Given the description of an element on the screen output the (x, y) to click on. 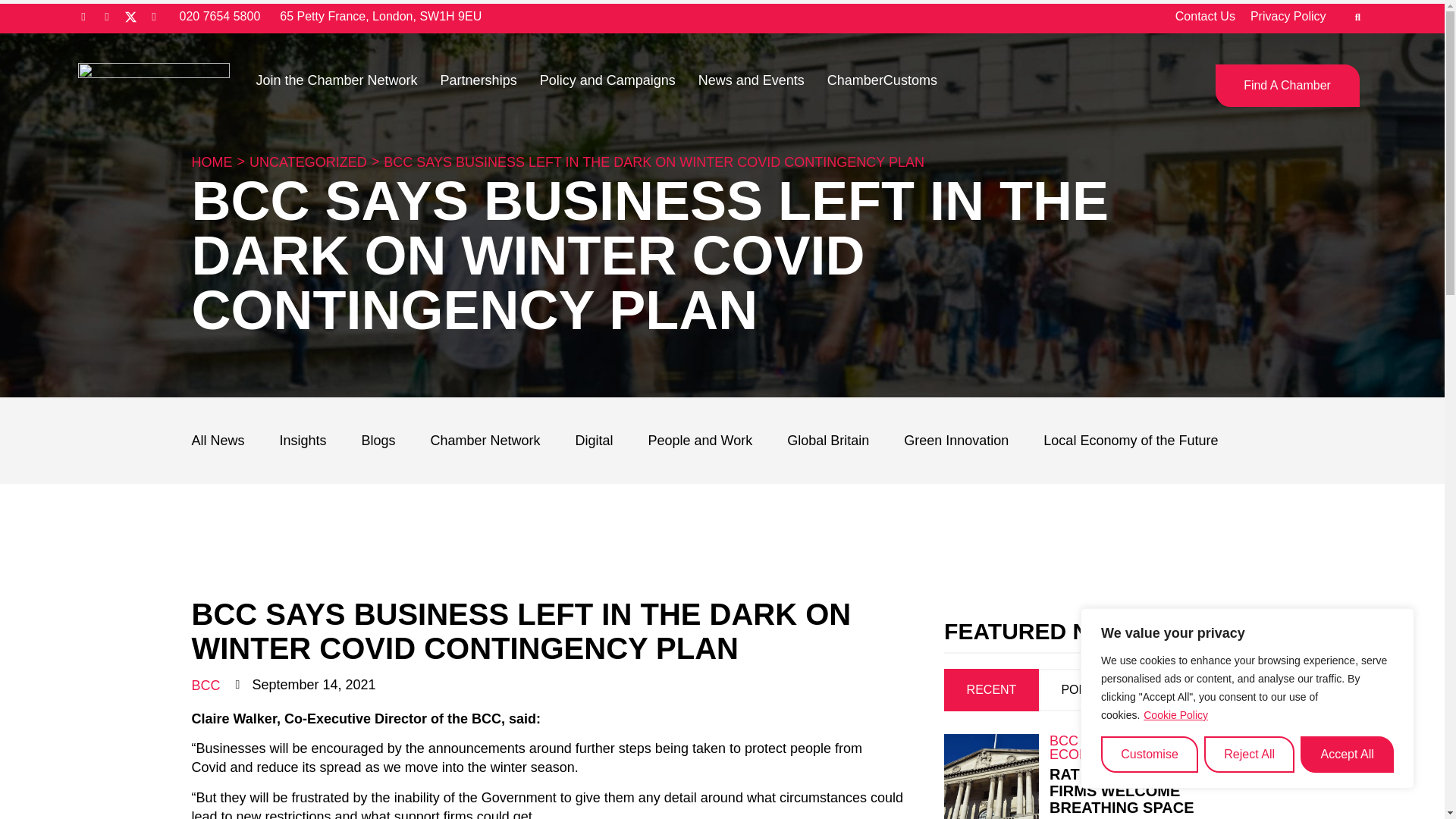
Privacy Policy (1288, 16)
Home (210, 161)
Accept All (1346, 754)
Contact Us (1204, 16)
Uncategorized (307, 161)
Reject All (1249, 754)
Customise (1149, 754)
Cookie Policy (1175, 714)
